Given the description of an element on the screen output the (x, y) to click on. 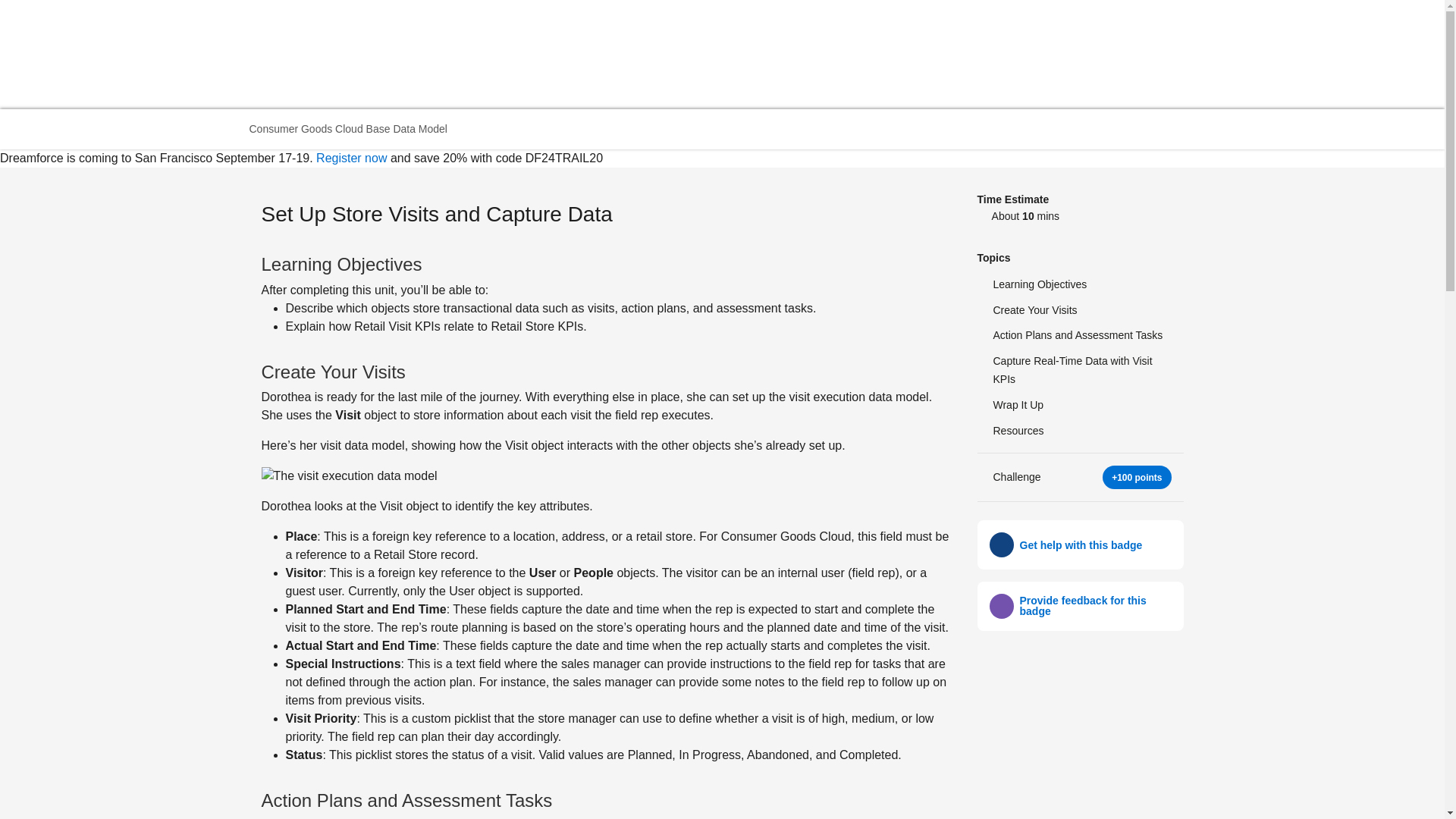
Capture Real-Time Data with Visit KPIs (1079, 370)
Consumer Goods Cloud Base Data Model (350, 129)
Resources (1079, 431)
Get help with this badge (1080, 544)
Wrap It Up (1079, 405)
Learning Objectives (1079, 284)
Register now (351, 157)
Provide feedback for this badge (1094, 605)
Create Your Visits (1079, 310)
Action Plans and Assessment Tasks (1079, 335)
